Given the description of an element on the screen output the (x, y) to click on. 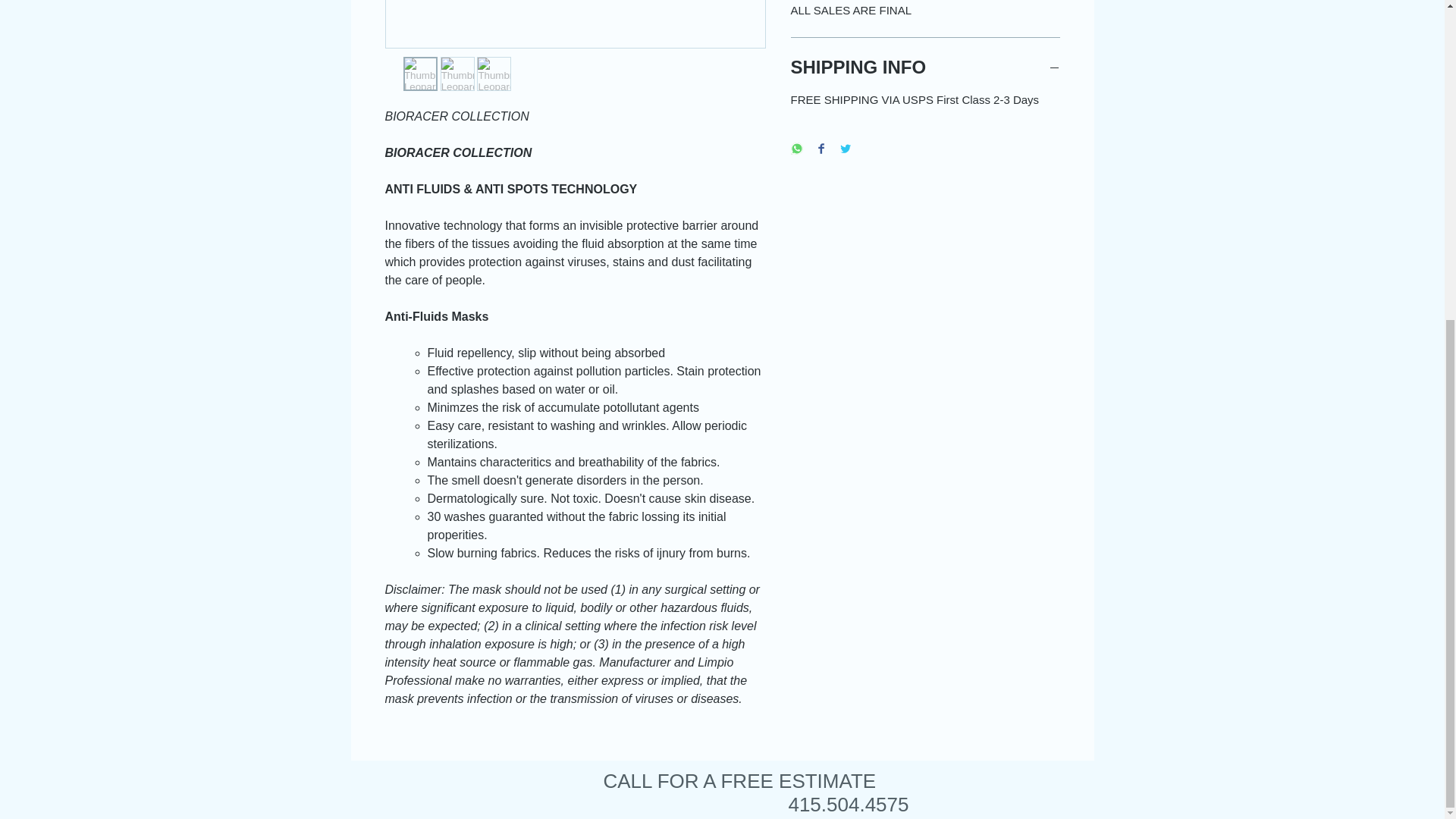
SHIPPING INFO (924, 67)
